Given the description of an element on the screen output the (x, y) to click on. 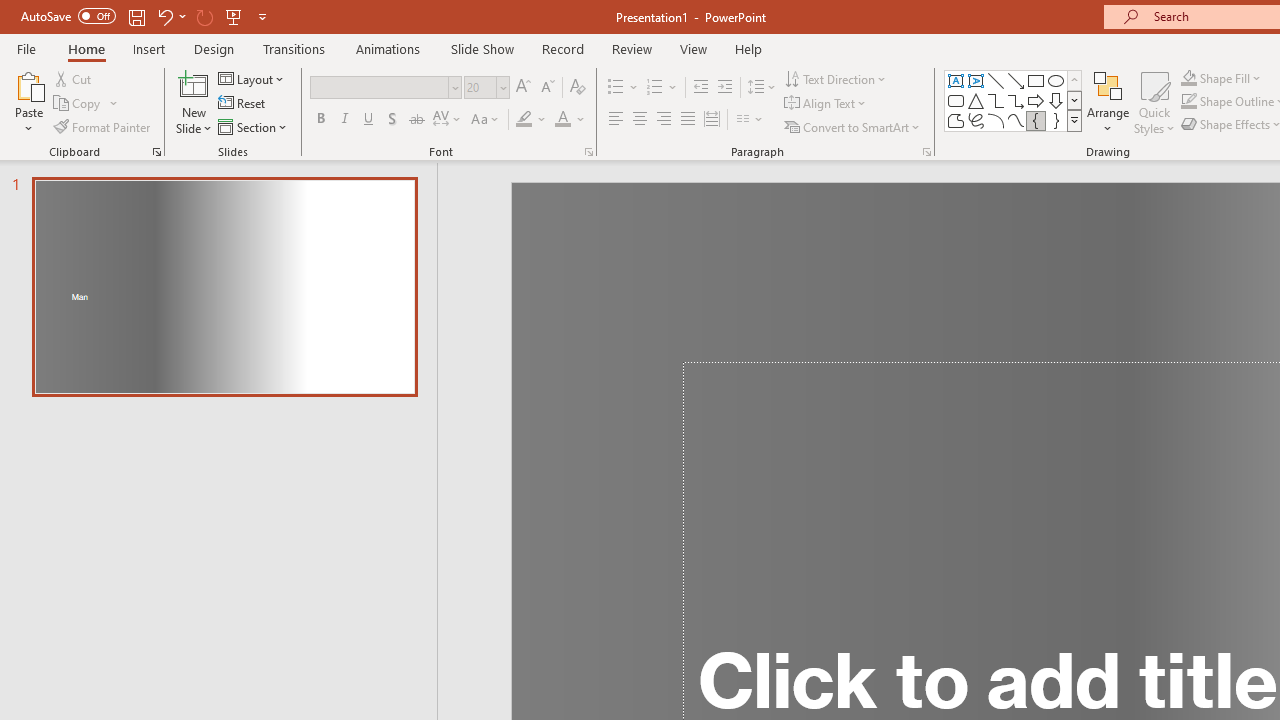
Vertical Text Box (975, 80)
Connector: Elbow Arrow (1016, 100)
Align Left (616, 119)
Line (995, 80)
Align Right (663, 119)
Increase Font Size (522, 87)
